Given the description of an element on the screen output the (x, y) to click on. 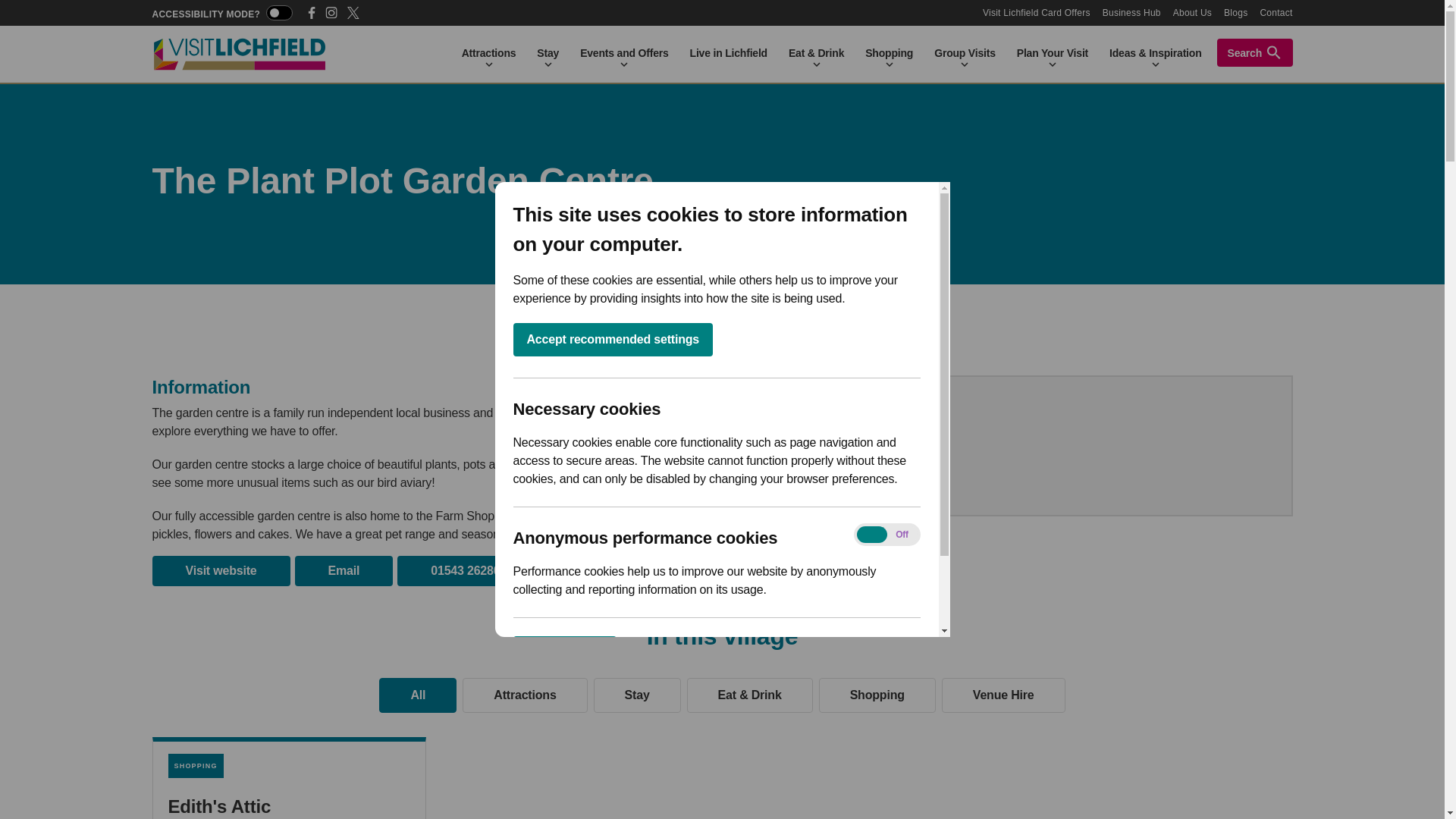
Stay (547, 52)
About Us (1192, 12)
Visit Lichfield Instagram (330, 12)
Plan Your Visit (1052, 52)
Attractions (488, 52)
Visit Lichfield Card Offers (1036, 12)
Group Visits (964, 52)
Blogs (1235, 12)
Visit Lichfield Twitter (353, 12)
Business Hub (1131, 12)
